Given the description of an element on the screen output the (x, y) to click on. 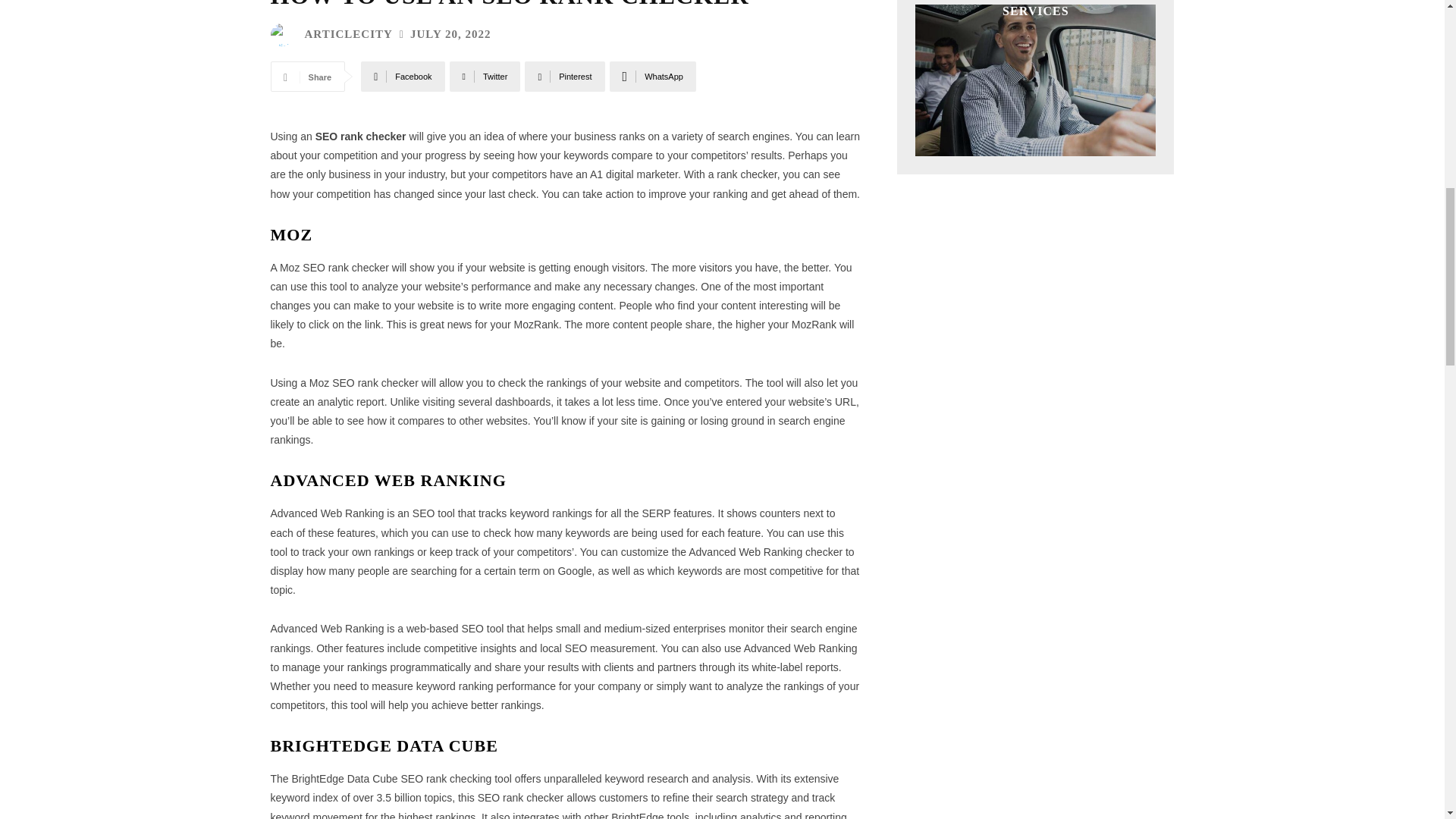
Articlecity (284, 34)
Twitter (485, 76)
Facebook (402, 76)
Pinterest (564, 76)
WhatsApp (652, 76)
